Given the description of an element on the screen output the (x, y) to click on. 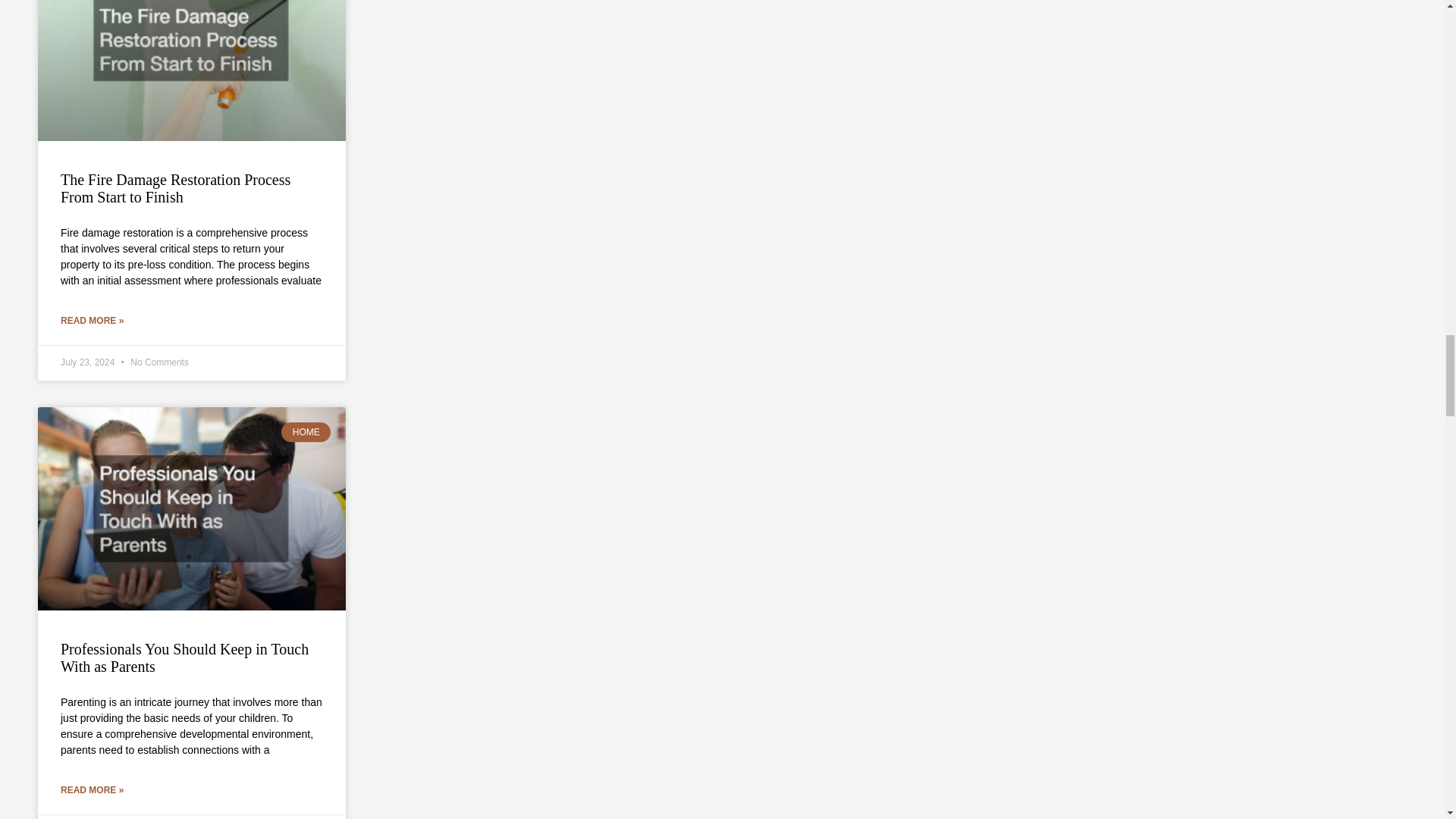
The Fire Damage Restoration Process From Start to Finish (175, 188)
Professionals You Should Keep in Touch With as Parents (184, 657)
